Given the description of an element on the screen output the (x, y) to click on. 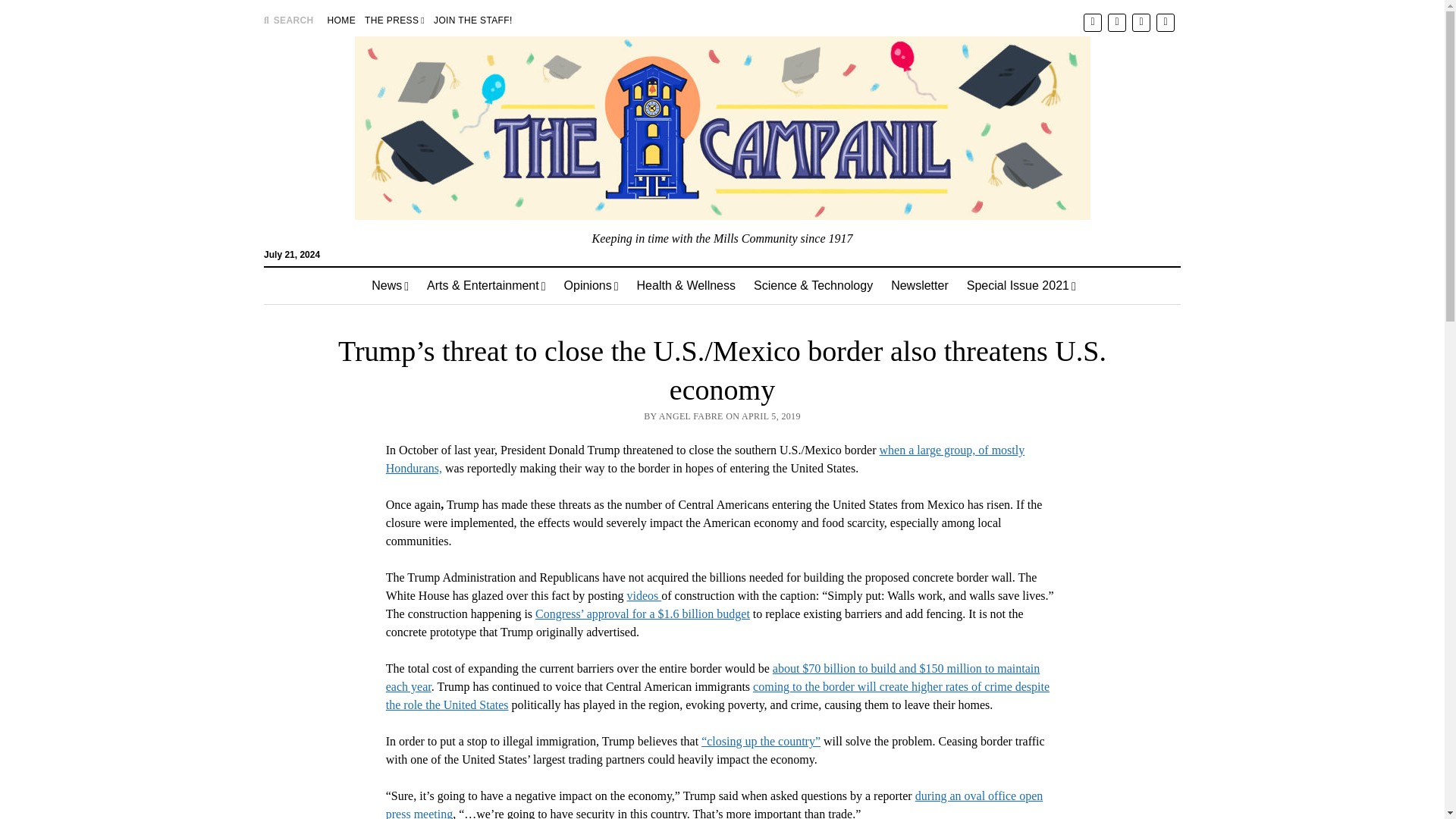
SEARCH (288, 20)
videos (643, 594)
News (389, 285)
Opinions (590, 285)
Special Issue 2021 (1021, 285)
when a large group, of mostly Hondurans, (705, 459)
Newsletter (920, 285)
Search (945, 129)
THE PRESS (395, 20)
JOIN THE STAFF! (472, 20)
HOME (341, 20)
